Given the description of an element on the screen output the (x, y) to click on. 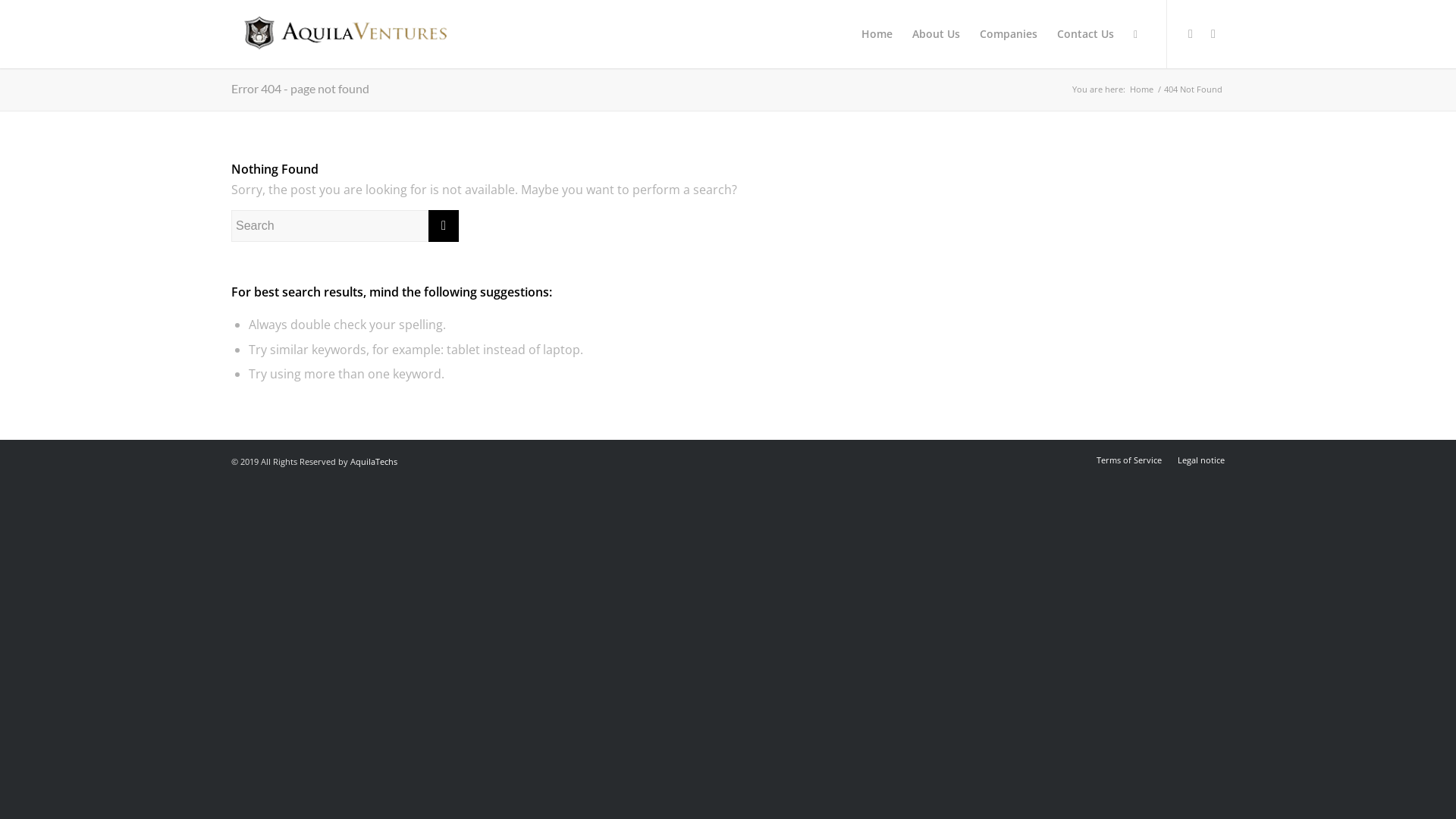
Legal notice Element type: text (1200, 459)
Home Element type: text (1141, 88)
Contact Us Element type: text (1085, 34)
About Us Element type: text (935, 34)
Companies Element type: text (1008, 34)
Terms of Service Element type: text (1128, 459)
Twitter Element type: hover (1190, 32)
AquilaTechs Element type: text (373, 461)
Home Element type: text (876, 34)
Facebook Element type: hover (1212, 32)
